Given the description of an element on the screen output the (x, y) to click on. 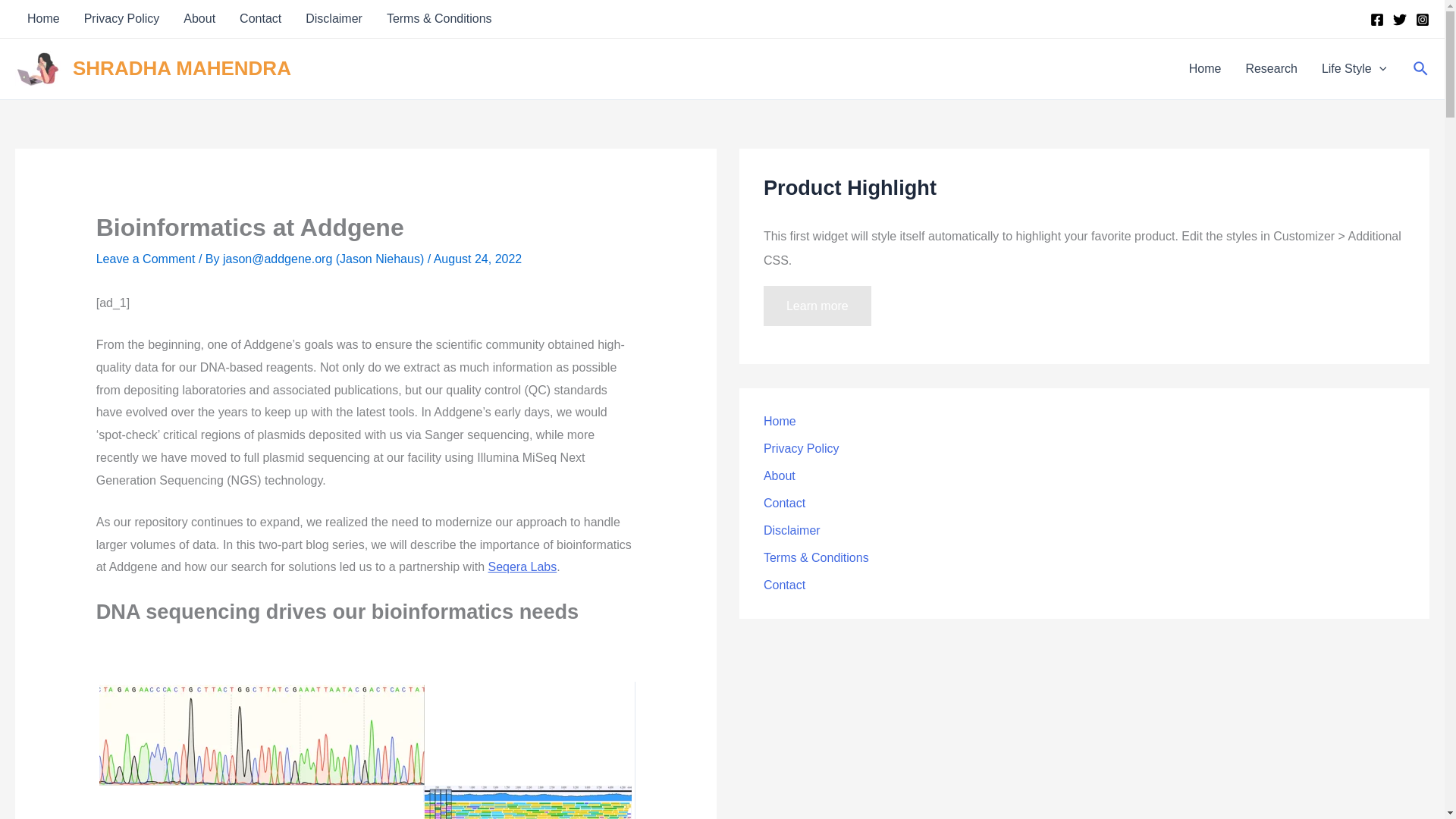
Research (1270, 68)
Life Style (1352, 68)
SHRADHA MAHENDRA (181, 67)
About (199, 18)
Disclaimer (334, 18)
Home (42, 18)
Privacy Policy (121, 18)
Contact (260, 18)
Home (1204, 68)
